Given the description of an element on the screen output the (x, y) to click on. 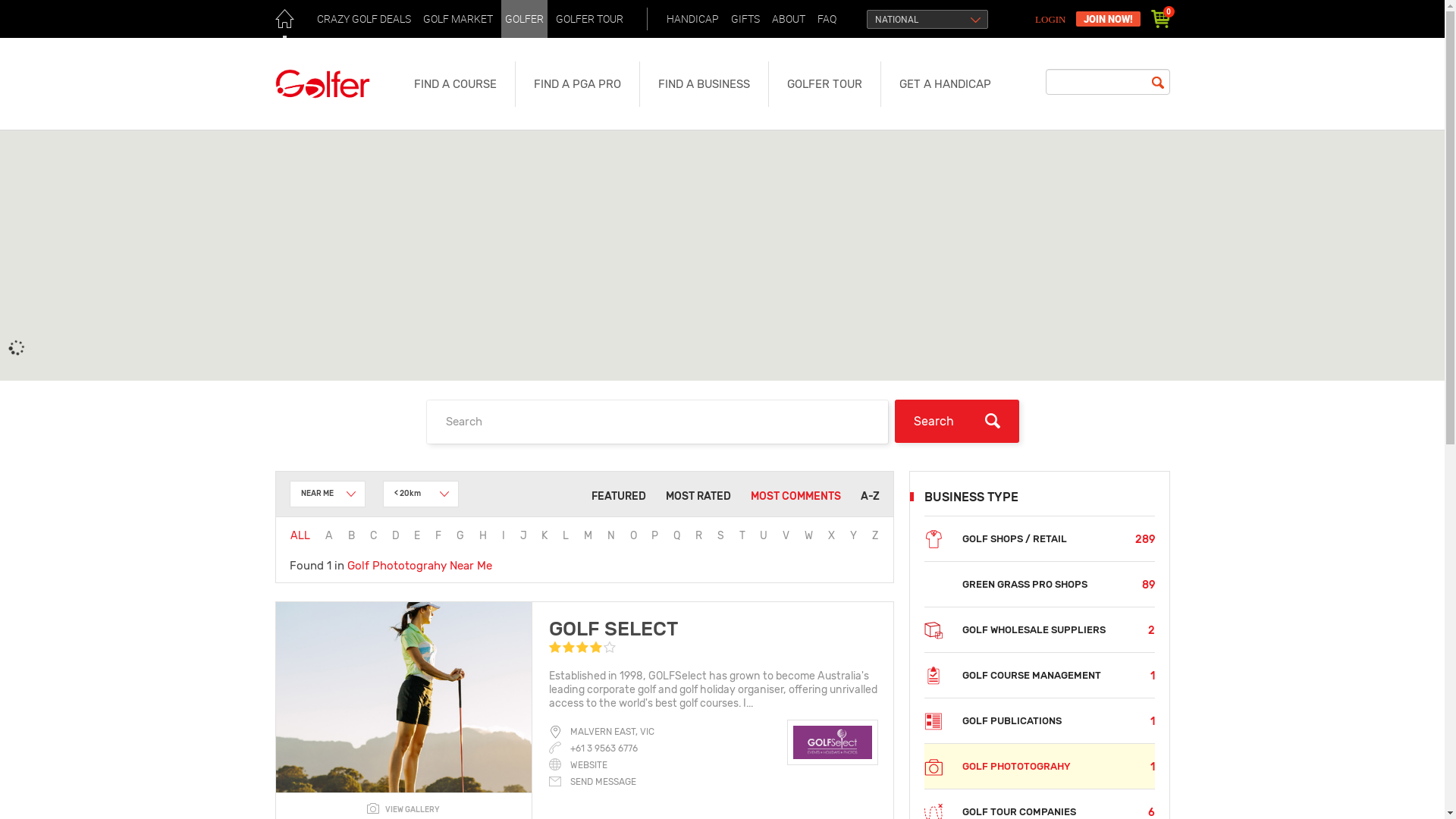
LOGIN Element type: text (1052, 19)
FIND A PGA PRO Element type: text (576, 84)
GOLFER TOUR Element type: text (823, 84)
MOST COMMENTS Element type: text (795, 495)
GIFTS Element type: text (744, 18)
JOIN NOW! Element type: text (1107, 18)
NATIONAL
  Element type: text (927, 18)
H Element type: text (482, 535)
U Element type: text (763, 535)
N Element type: text (611, 535)
M Element type: text (587, 535)
ABOUT Element type: text (787, 18)
FAQ Element type: text (825, 18)
GOLFER TOUR Element type: text (589, 18)
GOLFER Element type: text (523, 18)
+61 3 9563 6776 Element type: text (603, 748)
GOLF PUBLICATIONS
1 Element type: text (1038, 720)
FEATURED Element type: text (618, 495)
SEND MESSAGE Element type: text (592, 781)
GOLF PHOTOTOGRAHY
1 Element type: text (1038, 765)
GOLF SELECT Element type: text (613, 628)
NEAR ME
  Element type: text (327, 493)
MOST RATED Element type: text (698, 495)
GOLF SHOPS / RETAIL
289 Element type: text (1038, 538)
GET A HANDICAP Element type: text (944, 84)
L Element type: text (565, 535)
0 Element type: text (1160, 18)
Search Element type: text (956, 420)
GREEN GRASS PRO SHOPS
89 Element type: text (1038, 583)
X Element type: text (831, 535)
Z Element type: text (875, 535)
< 20km
  Element type: text (420, 493)
I Element type: text (503, 535)
K Element type: text (544, 535)
GOLF MARKET Element type: text (456, 18)
FIND A COURSE Element type: text (454, 84)
A Element type: text (328, 535)
B Element type: text (351, 535)
R Element type: text (698, 535)
C Element type: text (373, 535)
WEBSITE Element type: text (578, 764)
D Element type: text (395, 535)
F Element type: text (438, 535)
A-Z Element type: text (868, 495)
GOLF COURSE MANAGEMENT
1 Element type: text (1038, 674)
ALL Element type: text (300, 535)
Y Element type: text (853, 535)
V Element type: text (785, 535)
G Element type: text (460, 535)
S Element type: text (720, 535)
J Element type: text (523, 535)
P Element type: text (654, 535)
CRAZY GOLF DEALS Element type: text (363, 18)
Q Element type: text (676, 535)
T Element type: text (742, 535)
GOLF WHOLESALE SUPPLIERS
2 Element type: text (1038, 629)
E Element type: text (417, 535)
HANDICAP Element type: text (692, 18)
W Element type: text (808, 535)
O Element type: text (633, 535)
FIND A BUSINESS Element type: text (703, 84)
